Given the description of an element on the screen output the (x, y) to click on. 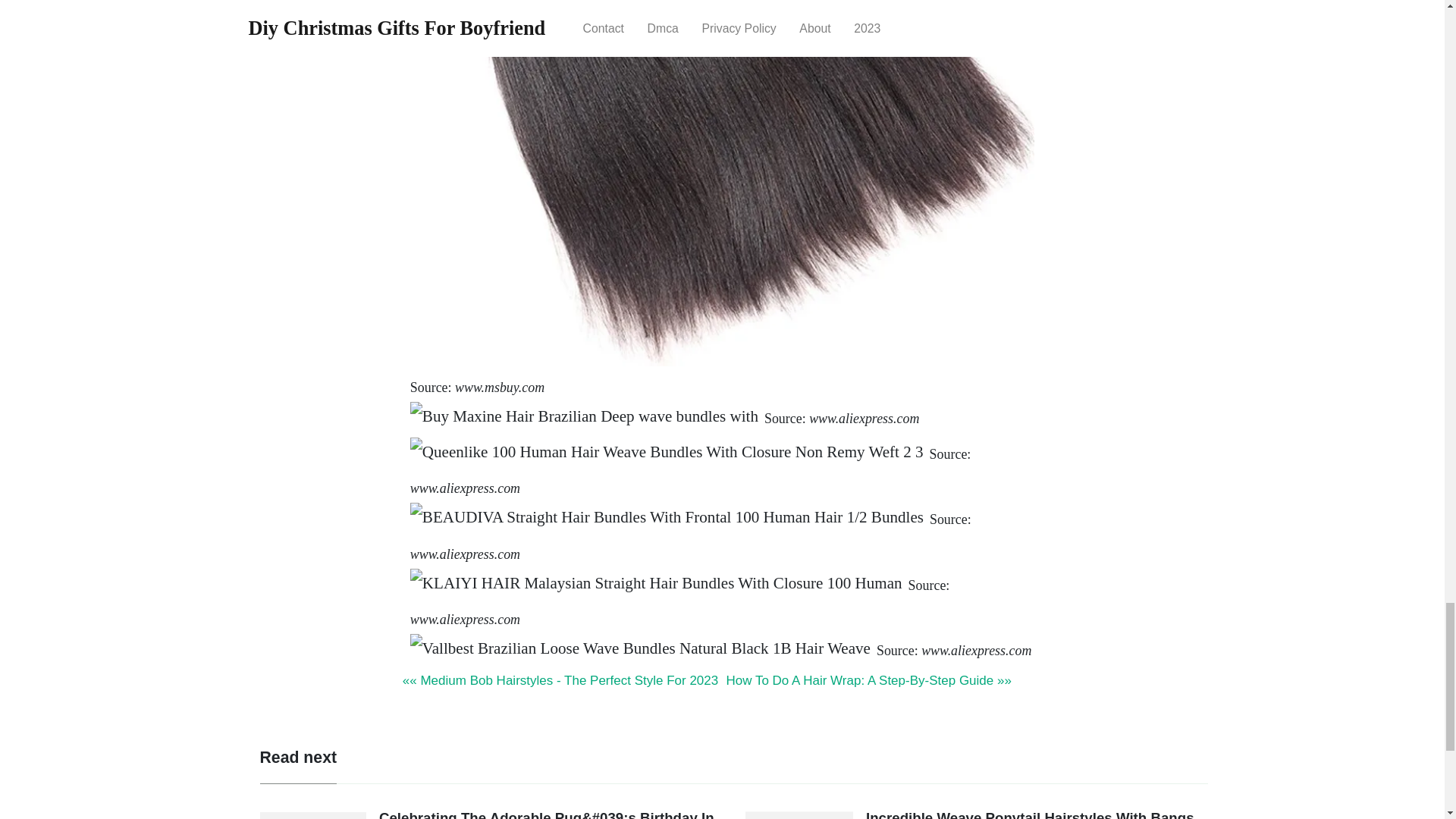
Incredible Weave Ponytail Hairstyles With Bangs 2022 (1029, 814)
